Given the description of an element on the screen output the (x, y) to click on. 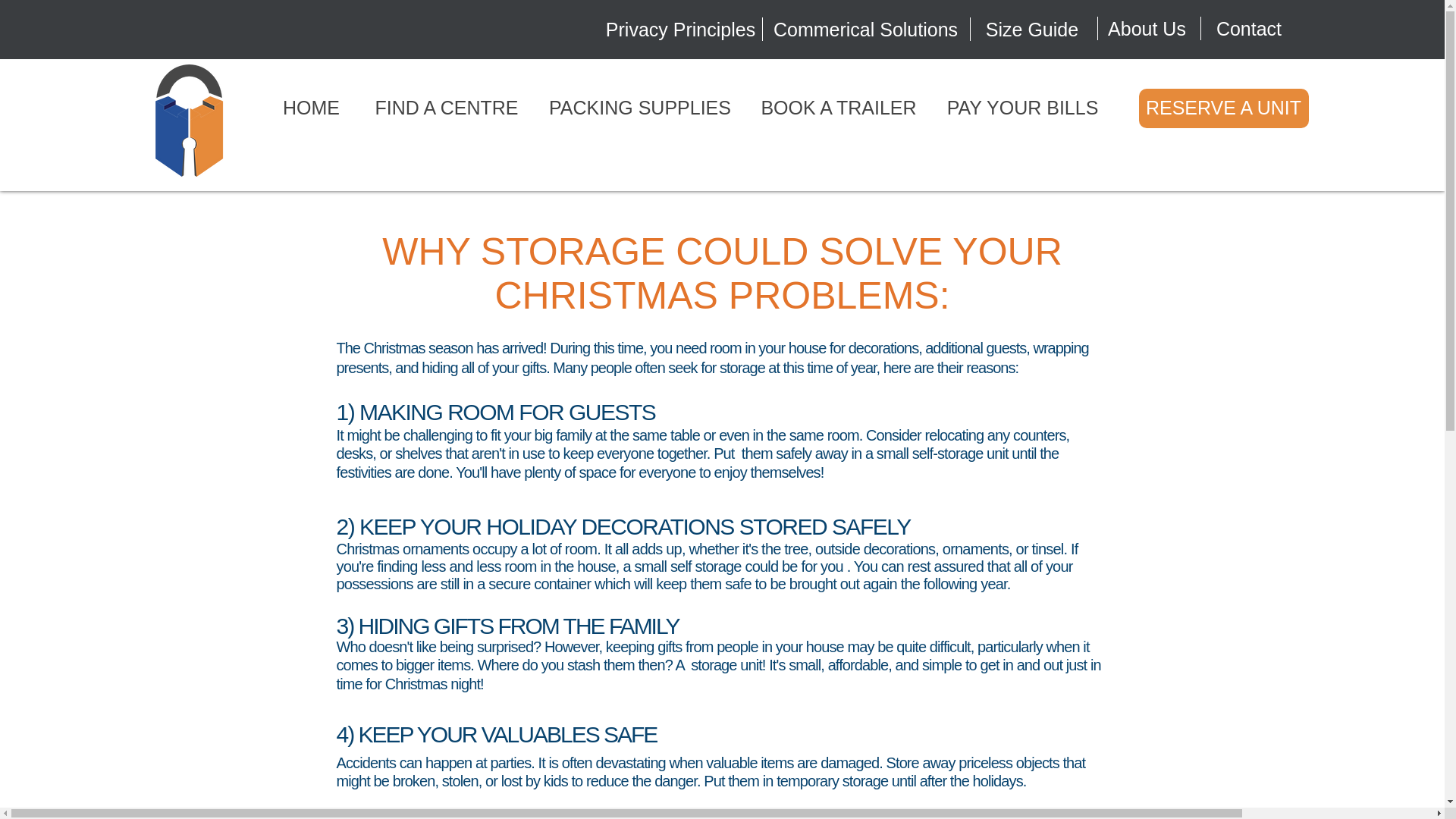
HOME (310, 107)
Commerical Solutions (864, 29)
Contact (1248, 28)
Size Guide (1031, 29)
Wix Chat (1356, 774)
RESERVE A UNIT (1223, 107)
PACKING SUPPLIES (640, 107)
Privacy Principles (680, 29)
About Us (1146, 28)
PAY YOUR BILLS (1023, 107)
